Given the description of an element on the screen output the (x, y) to click on. 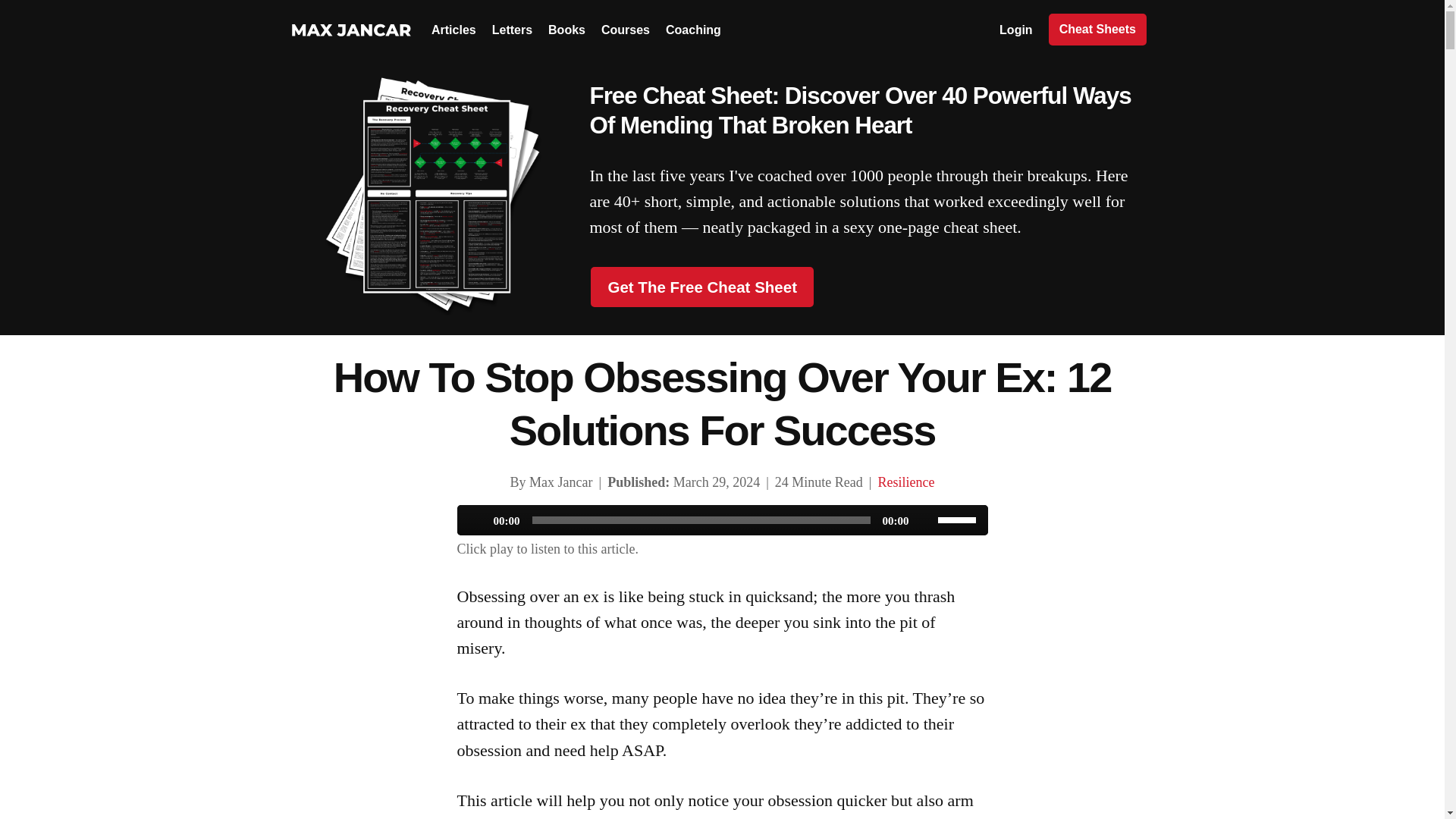
Letters (512, 29)
Get The Free Cheat Sheet (701, 286)
Mute (925, 519)
Articles (453, 29)
Login (1015, 29)
Resilience (905, 482)
Books (566, 29)
Cheat Sheets (1097, 29)
Courses (625, 29)
Play (475, 519)
